Given the description of an element on the screen output the (x, y) to click on. 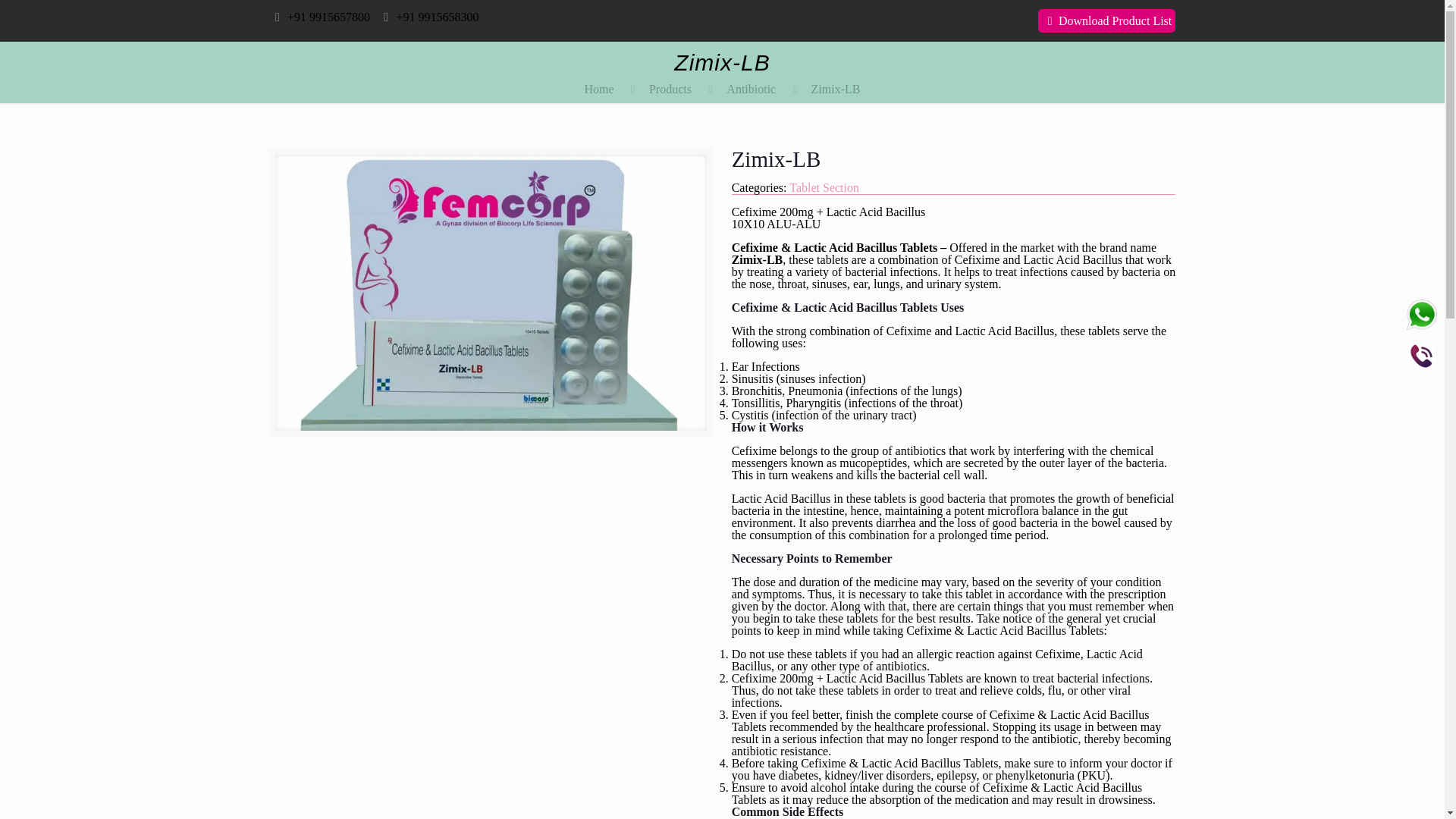
Download Product List (1107, 20)
